Given the description of an element on the screen output the (x, y) to click on. 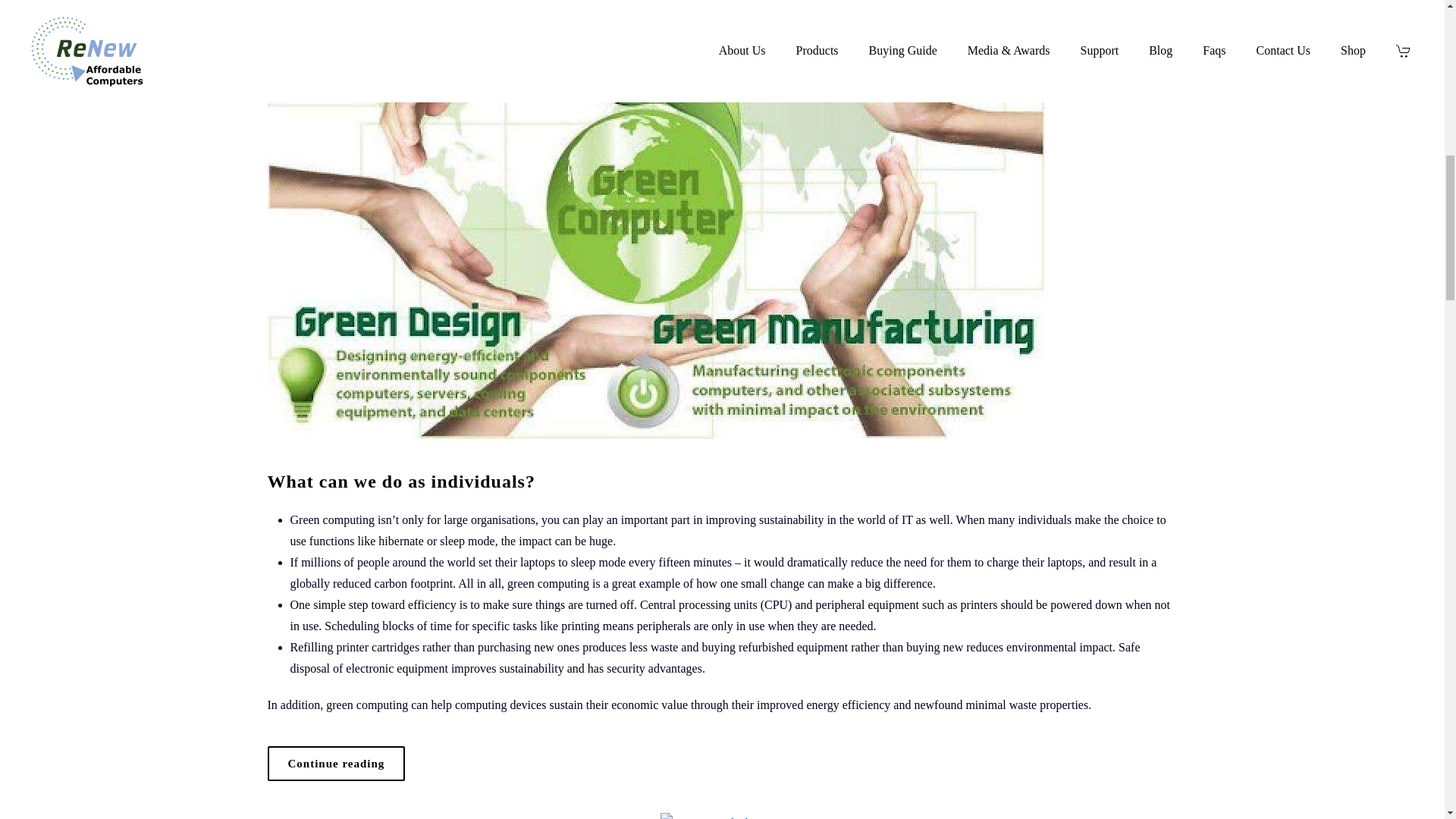
Continue reading (335, 763)
